Given the description of an element on the screen output the (x, y) to click on. 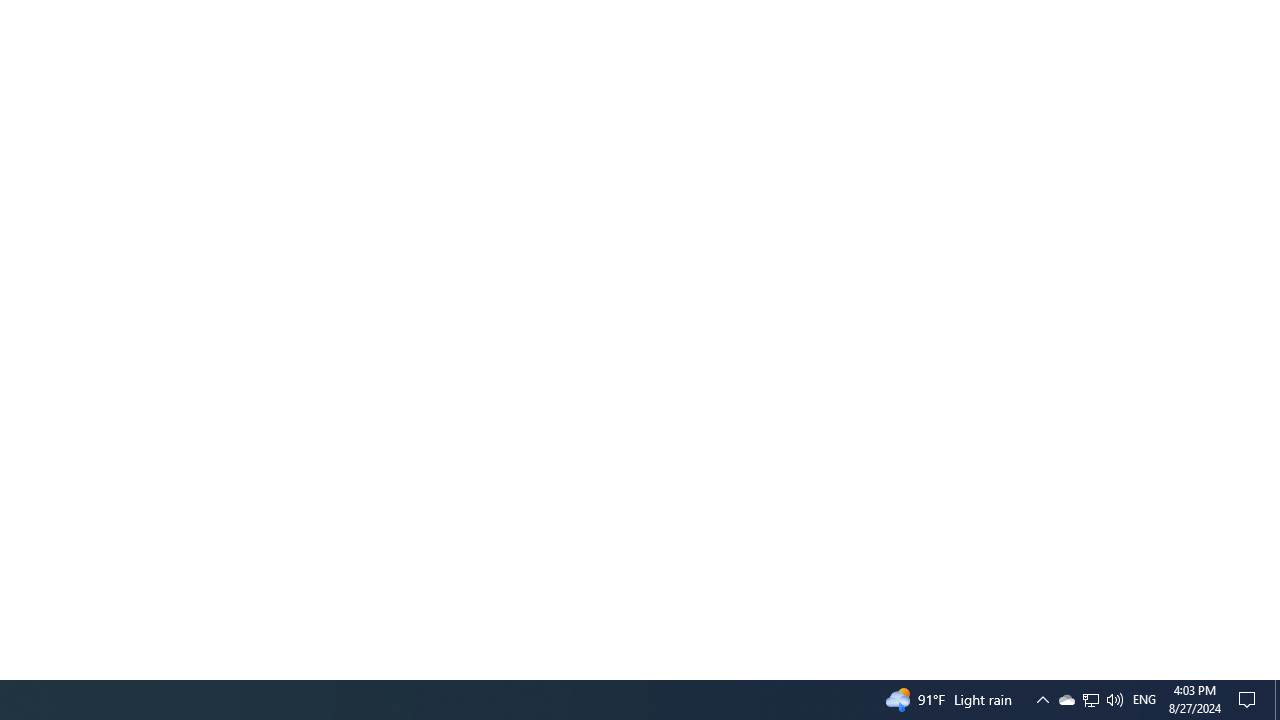
Show desktop (1277, 699)
Notification Chevron (1042, 699)
Action Center, No new notifications (1250, 699)
Q2790: 100% (1114, 699)
User Promoted Notification Area (1091, 699)
Tray Input Indicator - English (United States) (1090, 699)
